Given the description of an element on the screen output the (x, y) to click on. 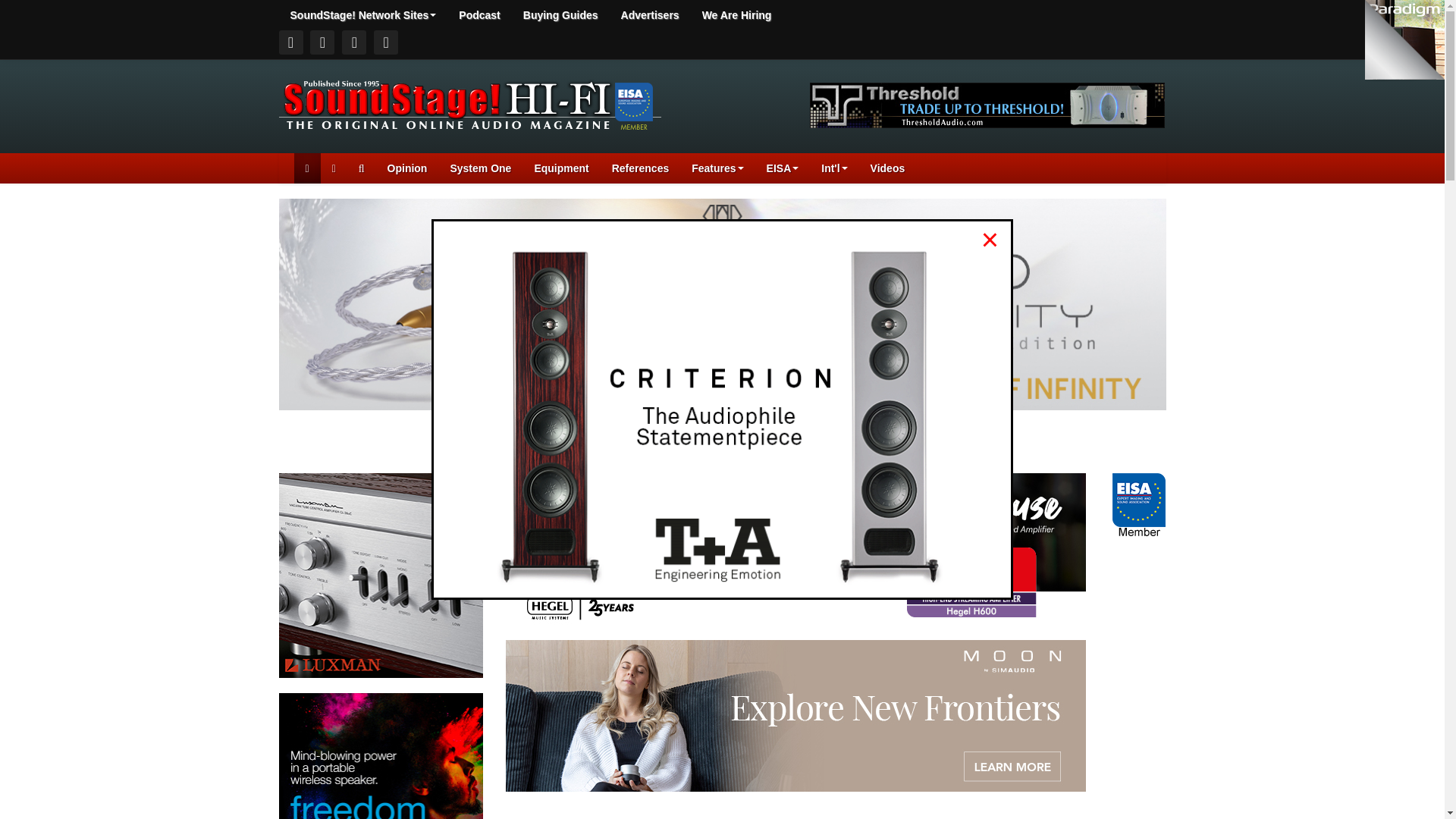
We Are Hiring (736, 15)
EISA (782, 168)
Features (716, 168)
References (640, 168)
Opinion (407, 168)
Podcast (478, 15)
Equipment (560, 168)
SoundStage! Network Sites (363, 15)
468x60 Threshold Audio (986, 104)
System One (480, 168)
Buying Guides (561, 15)
Advertisers (650, 15)
